Given the description of an element on the screen output the (x, y) to click on. 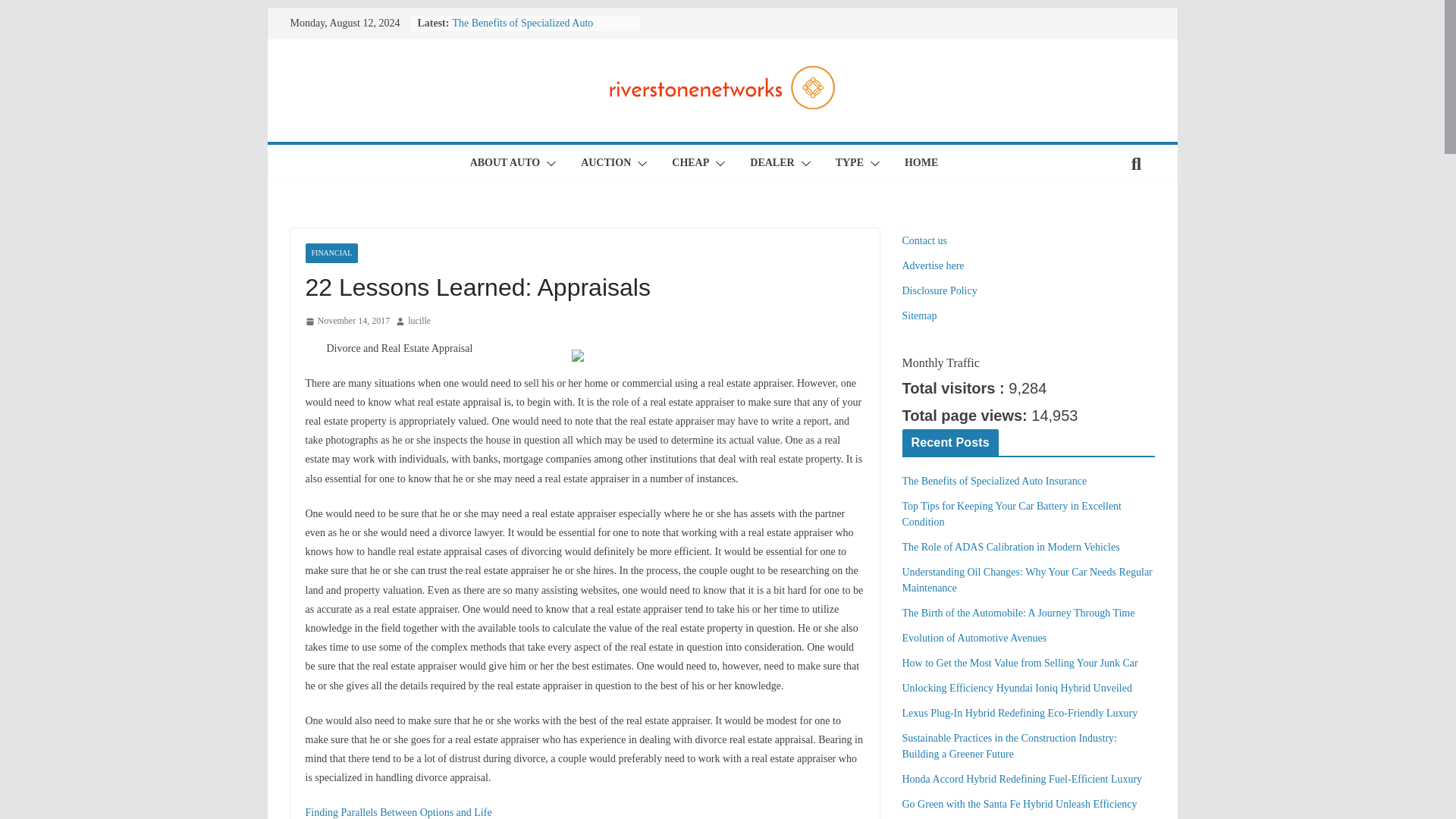
AUCTION (605, 163)
November 14, 2017 (347, 321)
TYPE (849, 163)
lucille (418, 321)
The Benefits of Specialized Auto Insurance (521, 30)
CHEAP (690, 163)
FINANCIAL (331, 252)
The Benefits of Specialized Auto Insurance (521, 30)
3:13 am (347, 321)
lucille (418, 321)
